Given the description of an element on the screen output the (x, y) to click on. 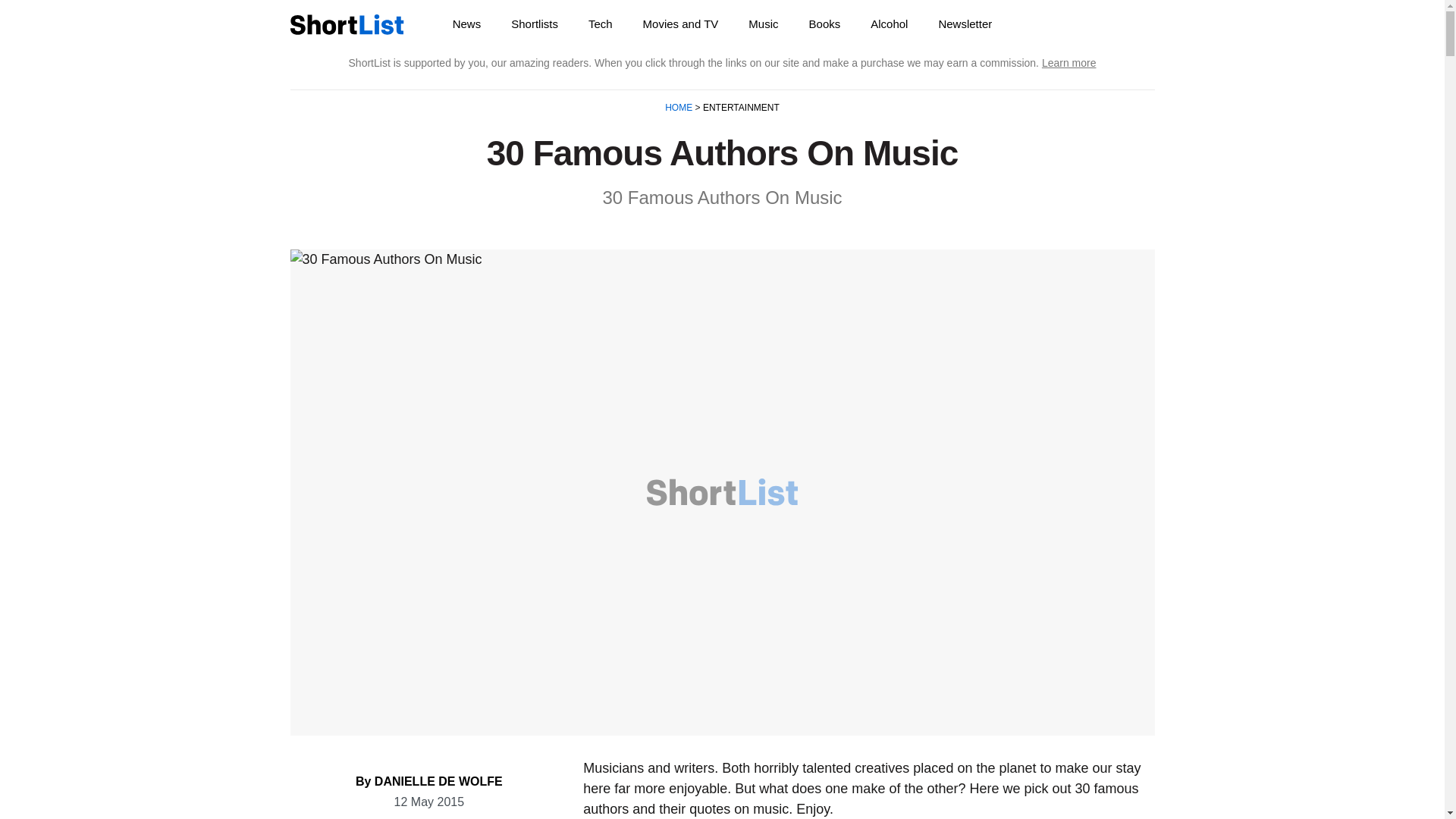
ENTERTAINMENT (739, 107)
Movies and TV (680, 23)
Tech (600, 23)
Learn more (1069, 62)
Music (763, 23)
Shortlists (534, 23)
Alcohol (889, 23)
HOME (679, 107)
Books (824, 23)
